Given the description of an element on the screen output the (x, y) to click on. 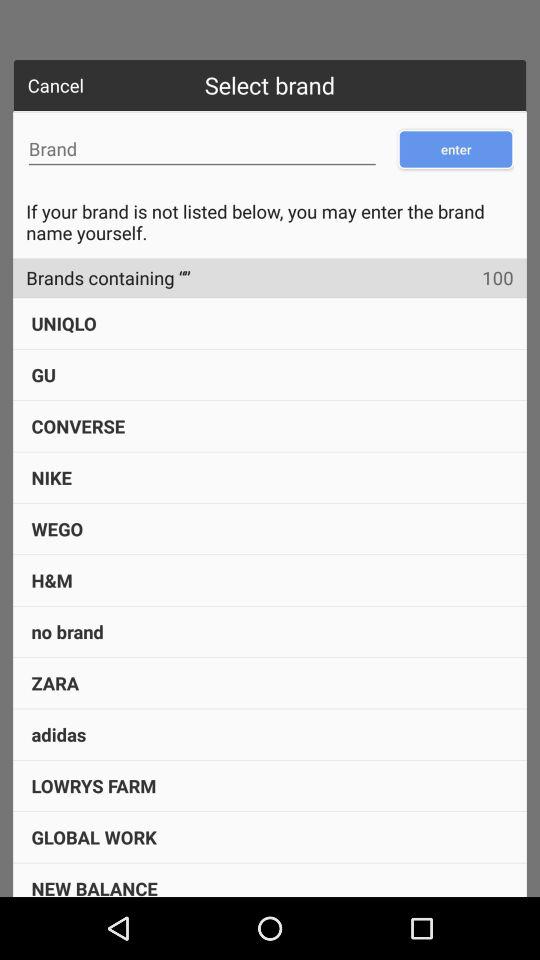
choose the item next to select brand icon (55, 85)
